Given the description of an element on the screen output the (x, y) to click on. 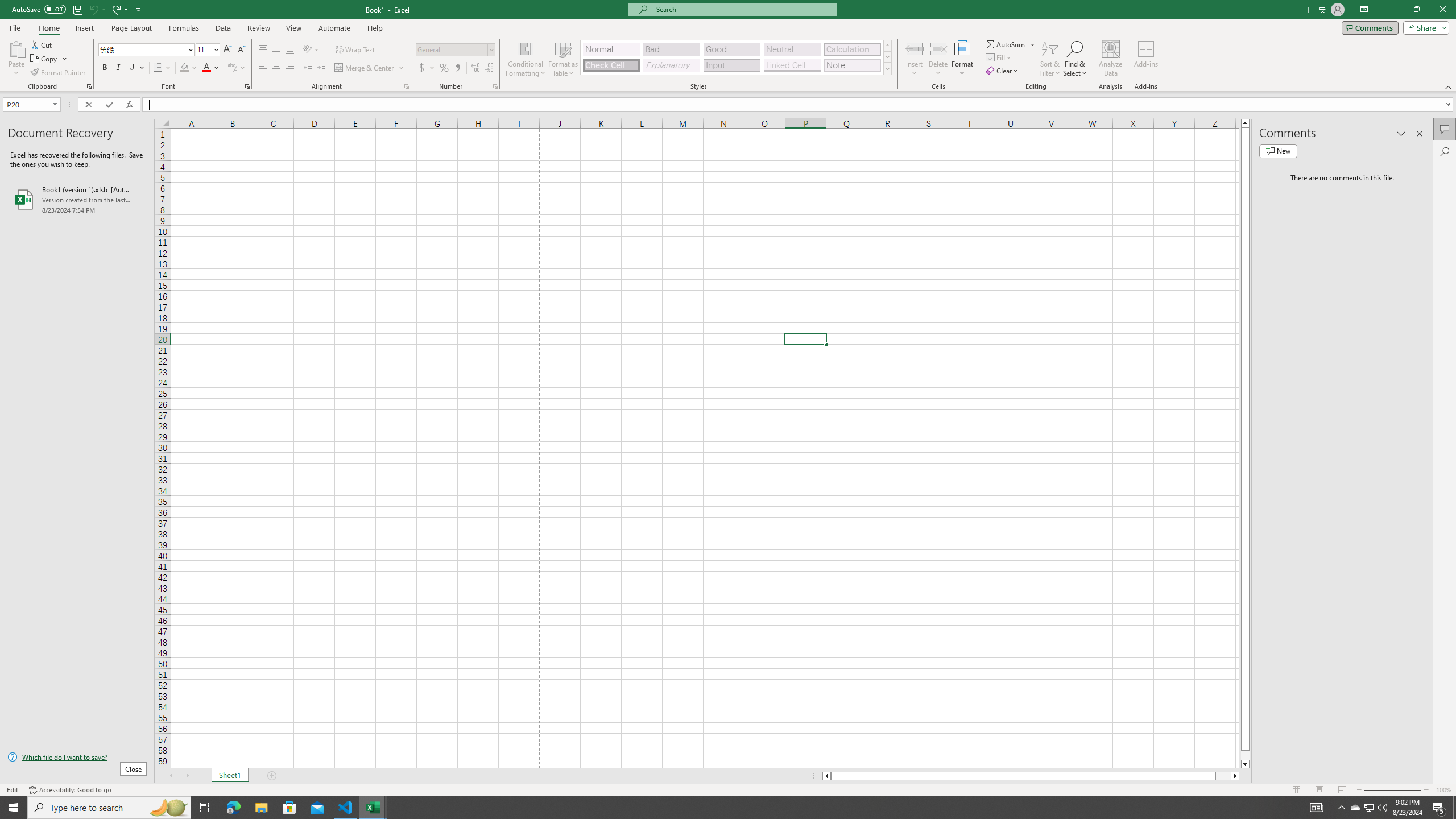
Format Cell Alignment (405, 85)
Input (731, 65)
Decrease Decimal (489, 67)
Fill Color RGB(255, 255, 0) (183, 67)
Add Sheet (272, 775)
Calculation (852, 49)
Zoom In (1426, 790)
Decrease Font Size (240, 49)
Cut (42, 44)
Book1 (version 1).xlsb  [AutoRecovered] (77, 199)
Underline (131, 67)
Formula Bar (799, 104)
Sort & Filter (1049, 58)
Close pane (1419, 133)
